Given the description of an element on the screen output the (x, y) to click on. 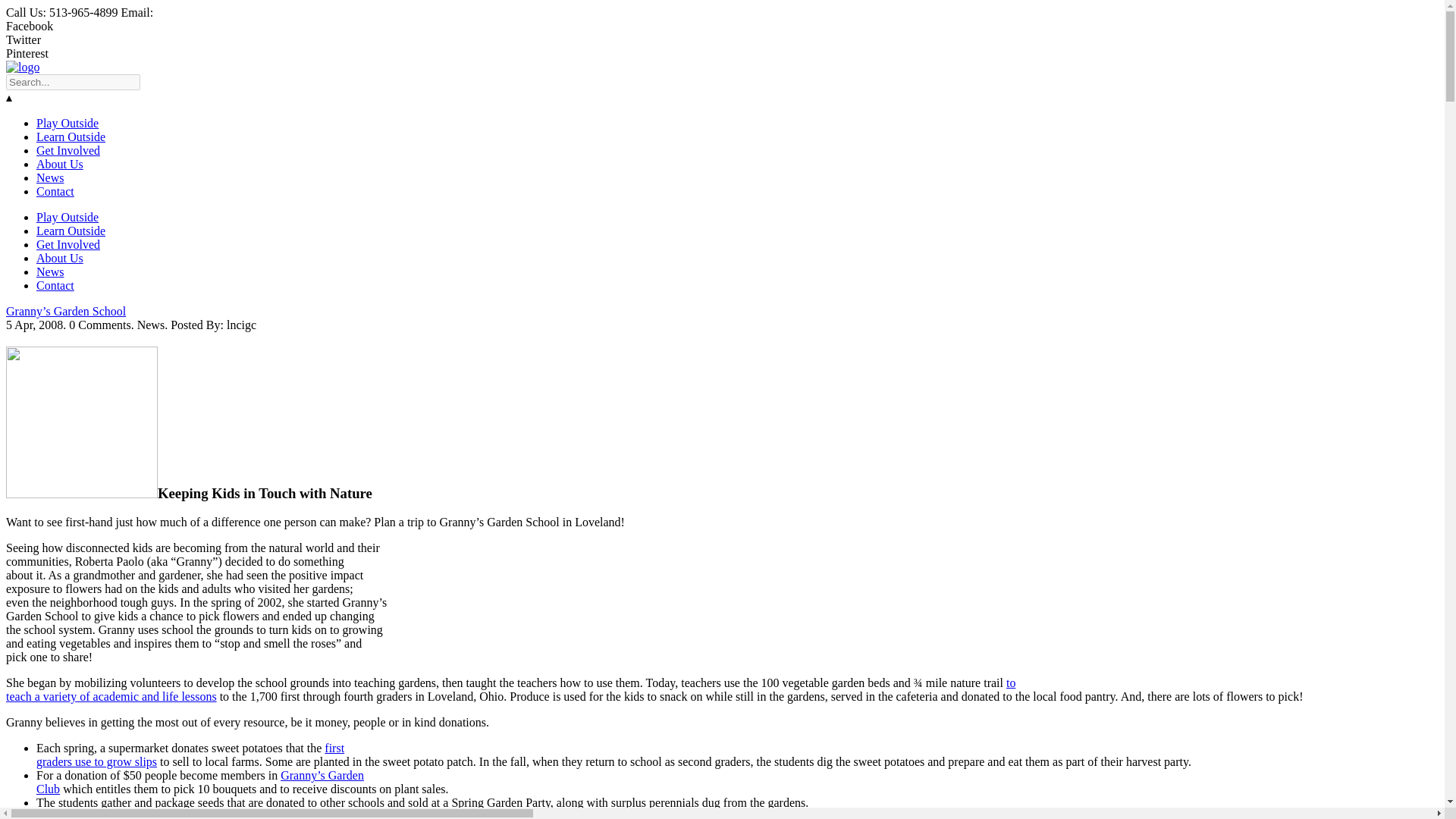
Play Outside (509, 689)
Get Involved (67, 123)
Learn Outside (68, 244)
News (70, 136)
Contact (50, 271)
Play Outside (55, 191)
News (67, 216)
Contact (50, 177)
About Us (55, 285)
About Us (59, 164)
Get Involved (59, 257)
Learn Outside (189, 755)
